Given the description of an element on the screen output the (x, y) to click on. 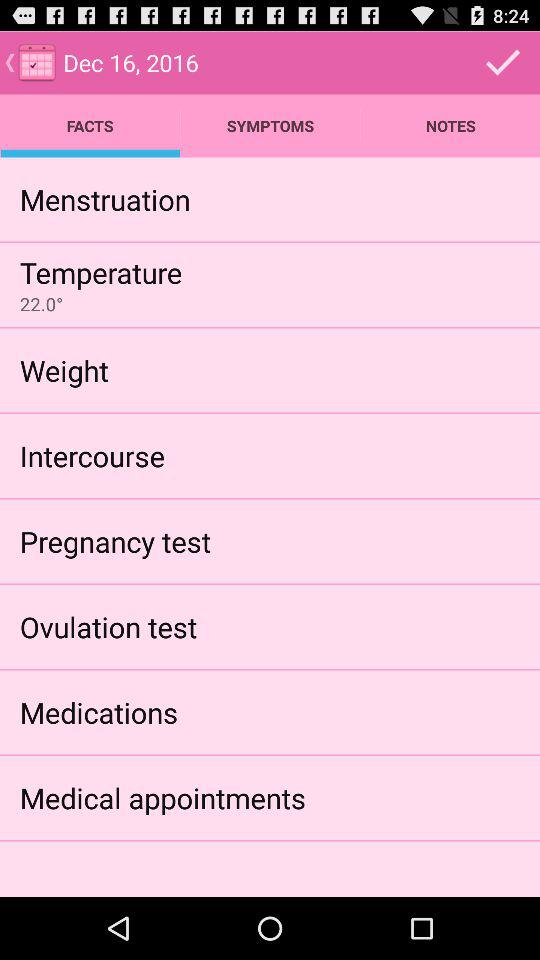
turn off pregnancy test icon (115, 540)
